Given the description of an element on the screen output the (x, y) to click on. 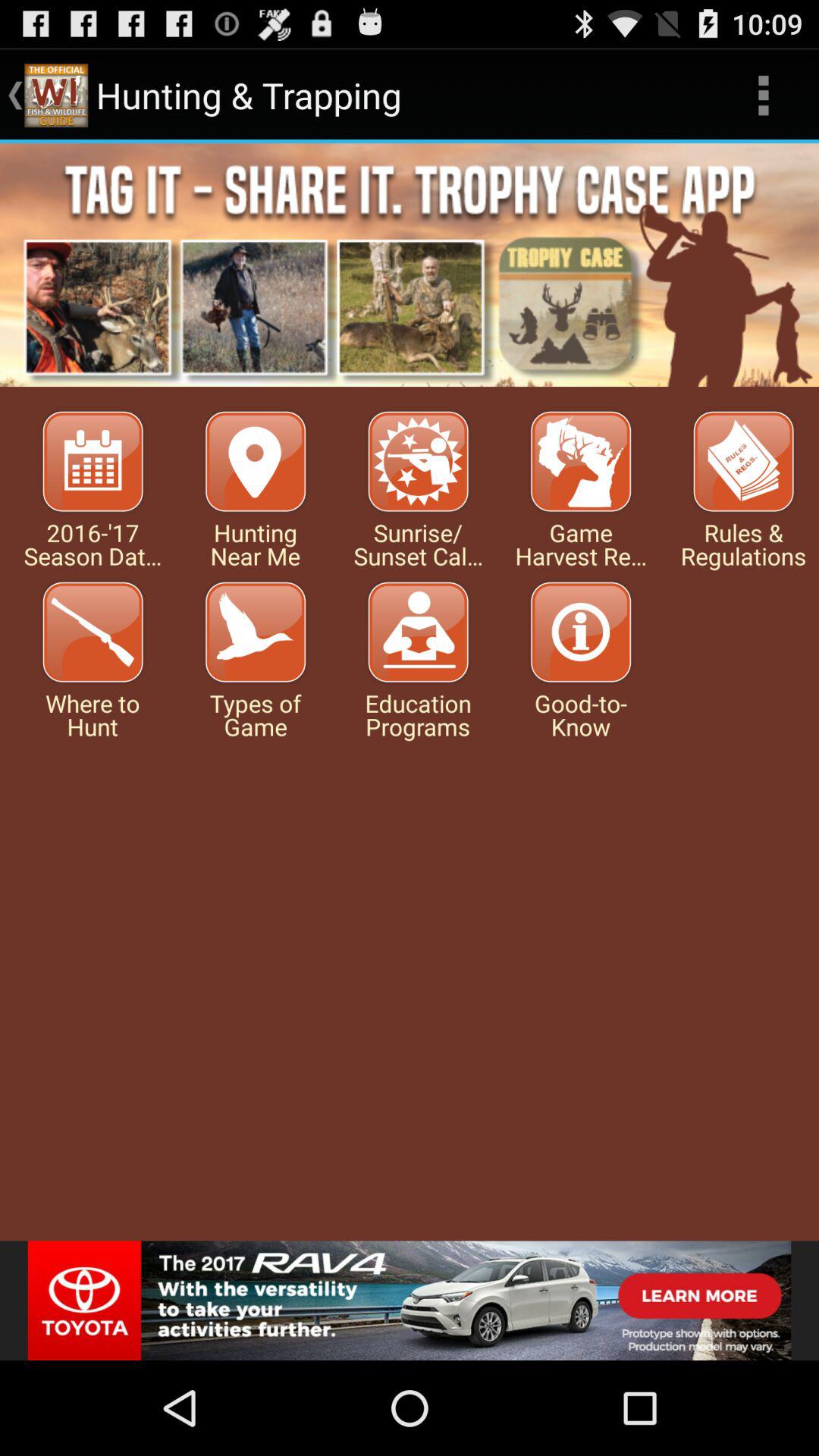
click on advertisements (409, 264)
